Given the description of an element on the screen output the (x, y) to click on. 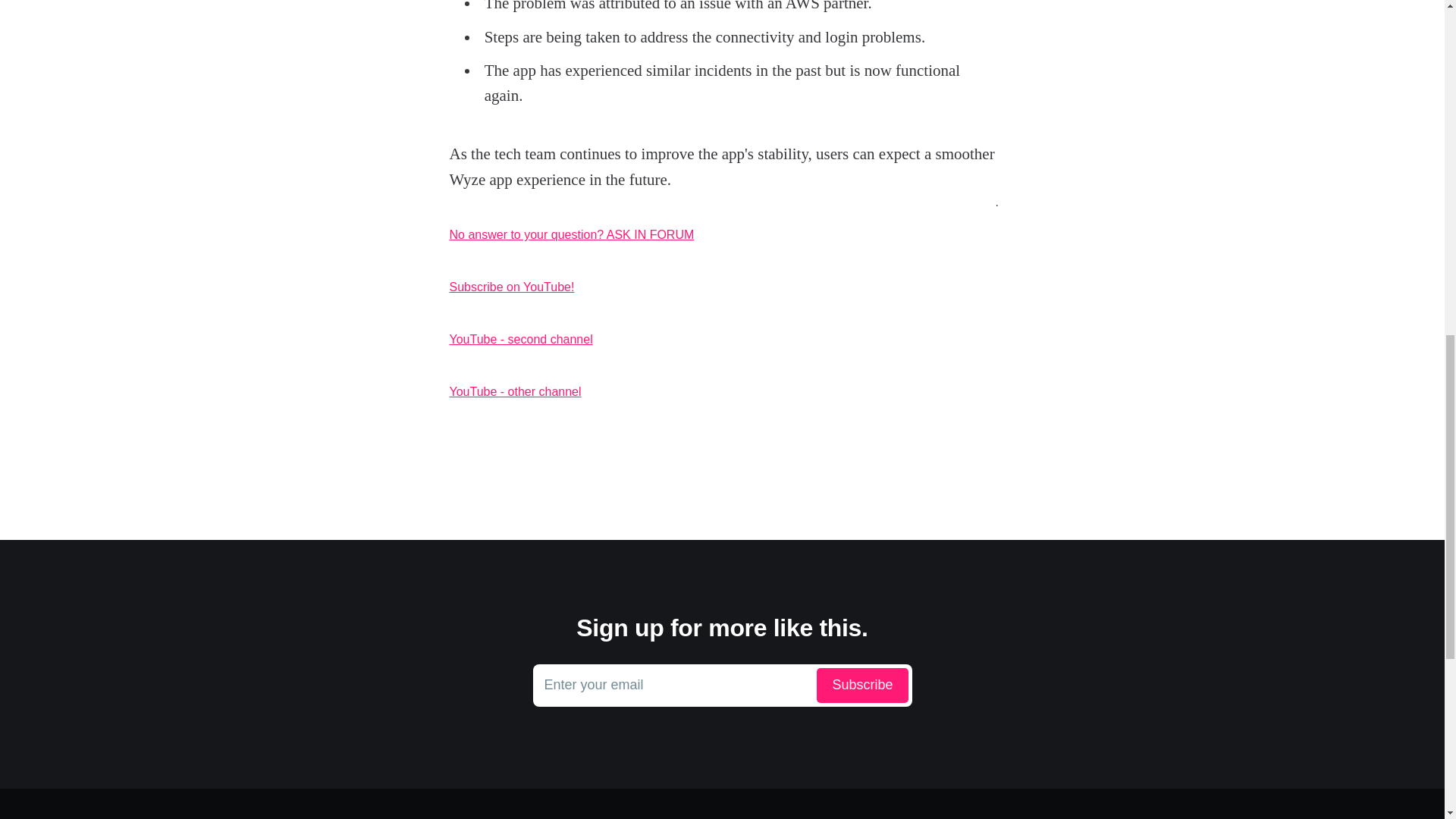
YouTube - second channel (721, 339)
No answer to your question? ASK IN FORUM (721, 234)
YouTube - other channel (721, 392)
Subscribe on YouTube! (721, 685)
